Given the description of an element on the screen output the (x, y) to click on. 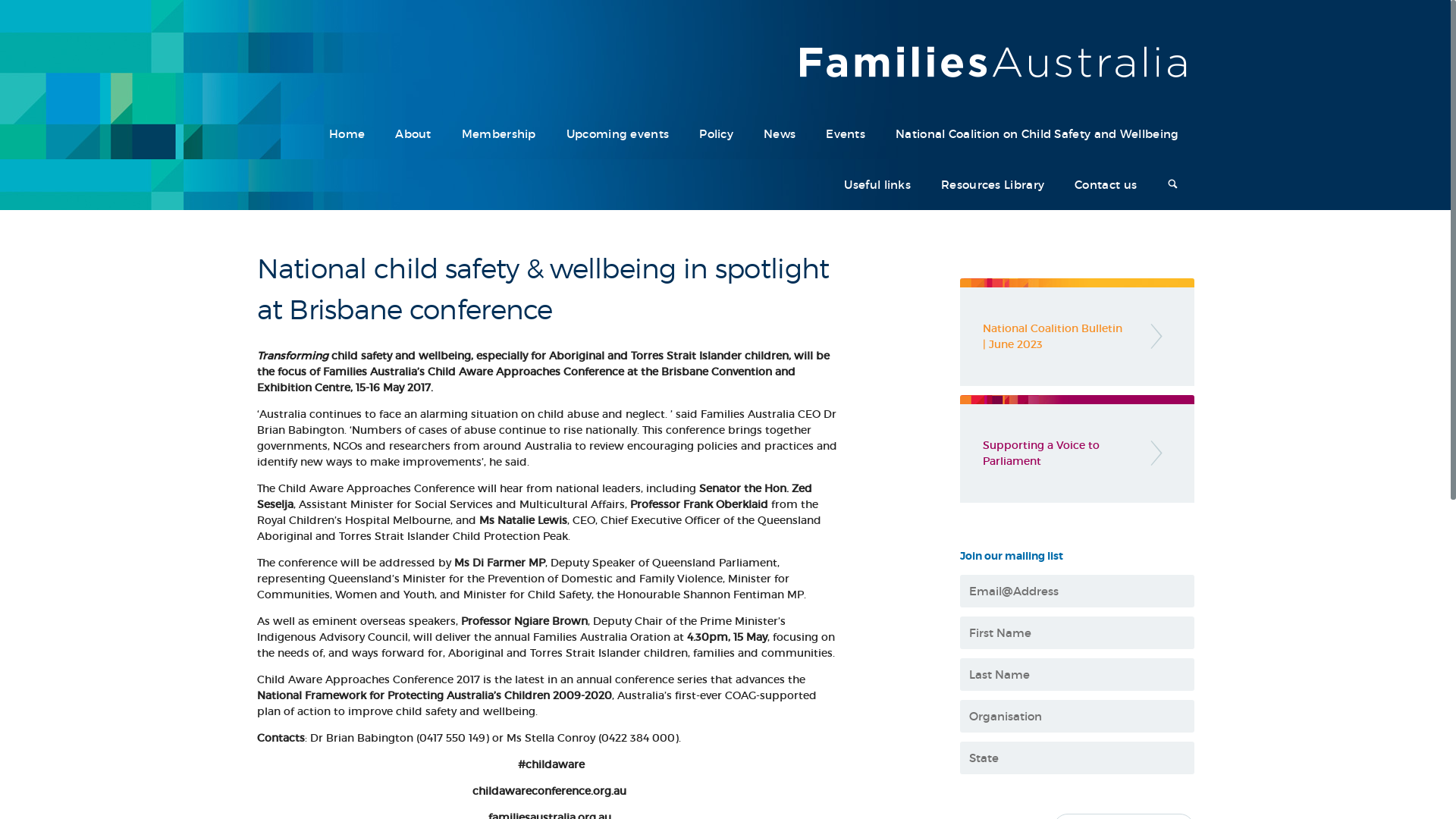
About Element type: text (412, 134)
Useful links Element type: text (876, 184)
Events Element type: text (845, 134)
Search Element type: text (1172, 184)
National Coalition Bulletin | June 2023 Element type: text (1077, 331)
Policy Element type: text (716, 134)
News Element type: text (779, 134)
Membership Element type: text (498, 134)
Upcoming events Element type: text (617, 134)
Resources Library Element type: text (992, 184)
National Coalition on Child Safety and Wellbeing Element type: text (1036, 134)
Home Element type: text (346, 134)
Supporting a Voice to Parliament Element type: text (1077, 448)
Contact us Element type: text (1105, 184)
